Given the description of an element on the screen output the (x, y) to click on. 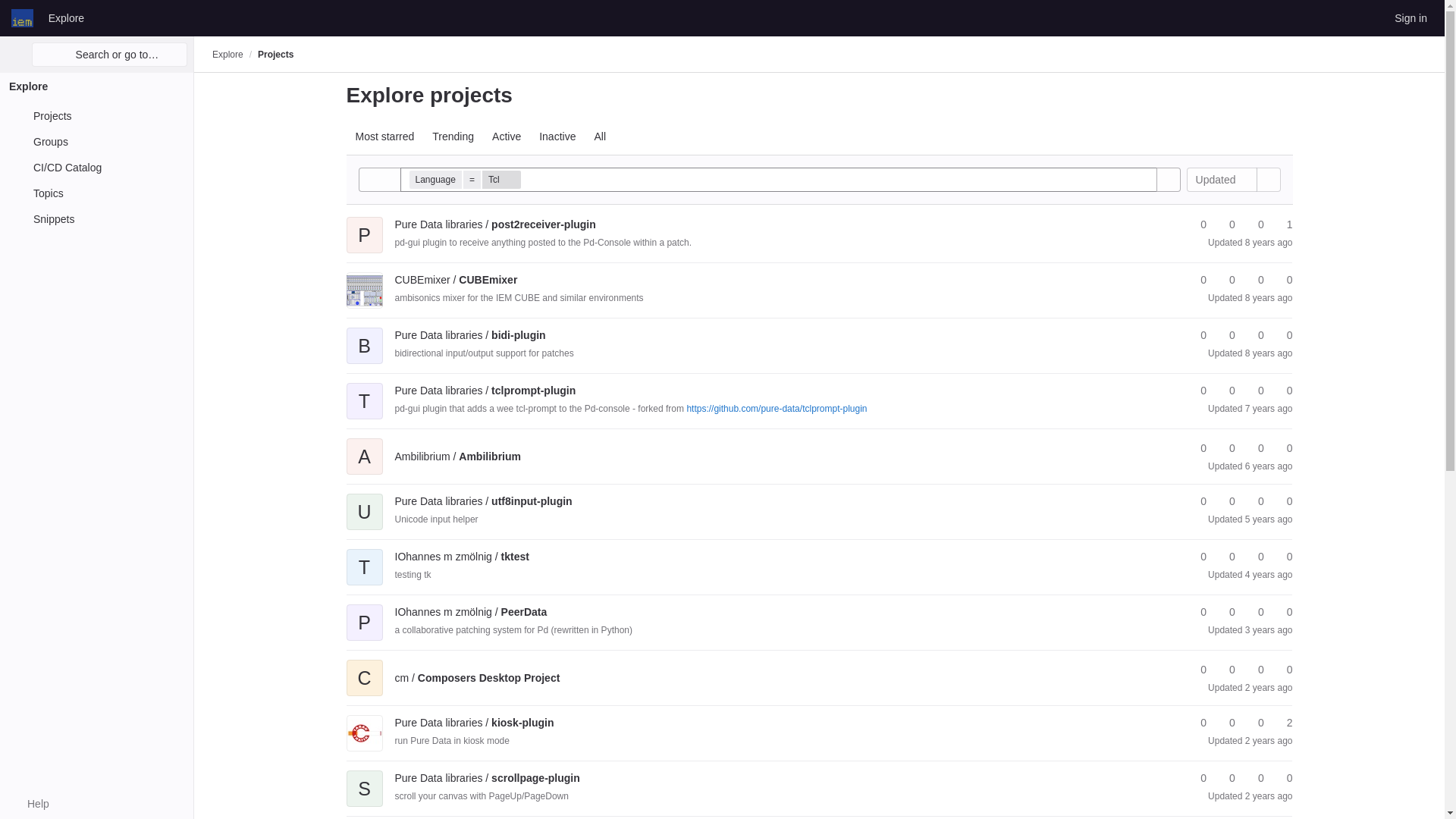
Stars (1196, 279)
P (363, 224)
Topics (96, 192)
Sign in (1410, 17)
Clear (1144, 179)
post2receiver-plugin (494, 224)
Issues (1282, 224)
Active (506, 135)
Most starred (384, 135)
Forks (1224, 279)
Explore (66, 17)
Updated (1221, 179)
CUBEmixer (455, 279)
Trending (453, 135)
Homepage (22, 17)
